Given the description of an element on the screen output the (x, y) to click on. 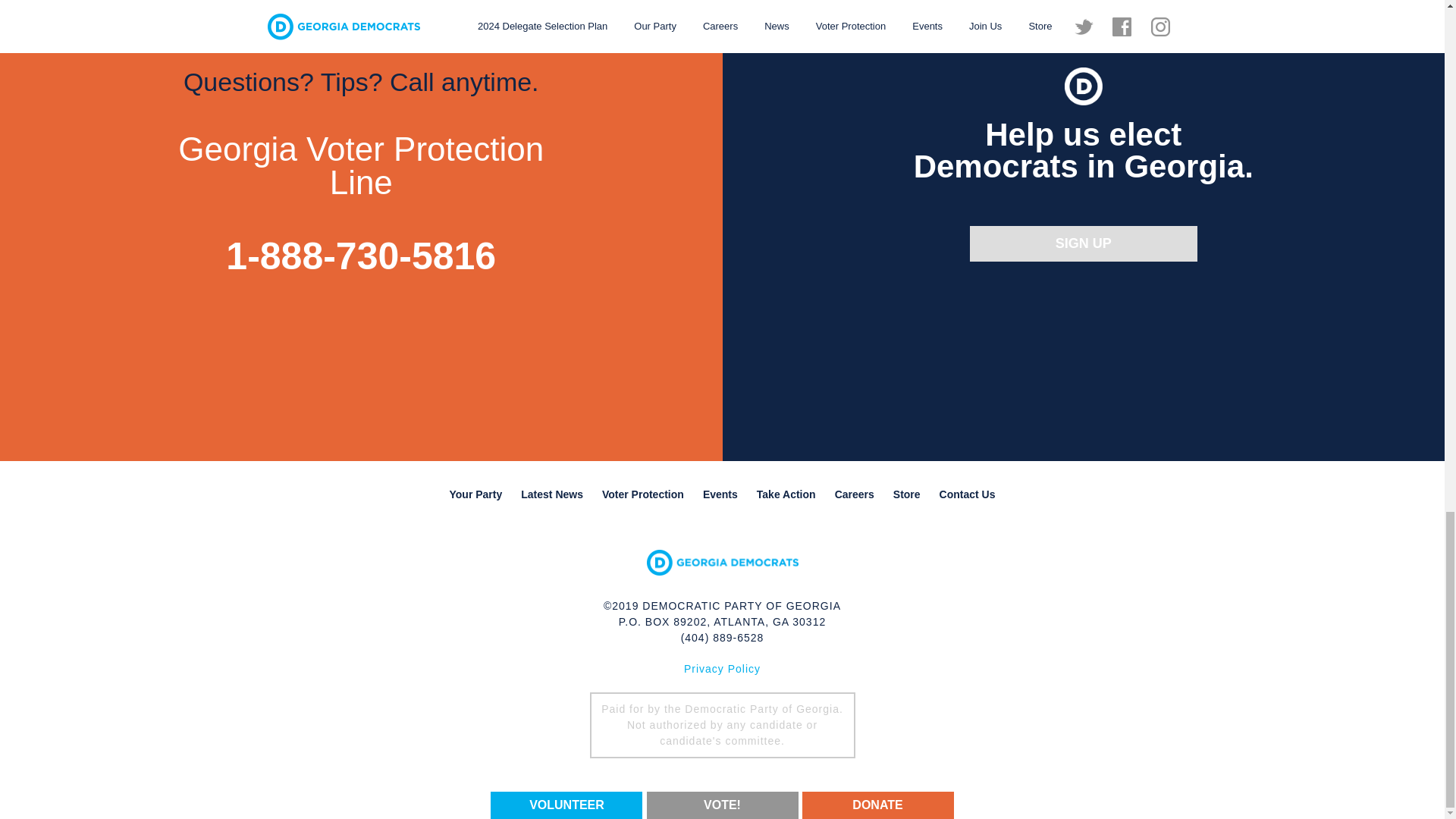
Take Action (786, 494)
Your Party (475, 494)
Careers (854, 494)
Latest News (552, 494)
SIGN UP (1083, 243)
Privacy Policy (722, 668)
Events (720, 494)
Store (906, 494)
SIGN UP (1082, 243)
Contact Us (967, 494)
